Given the description of an element on the screen output the (x, y) to click on. 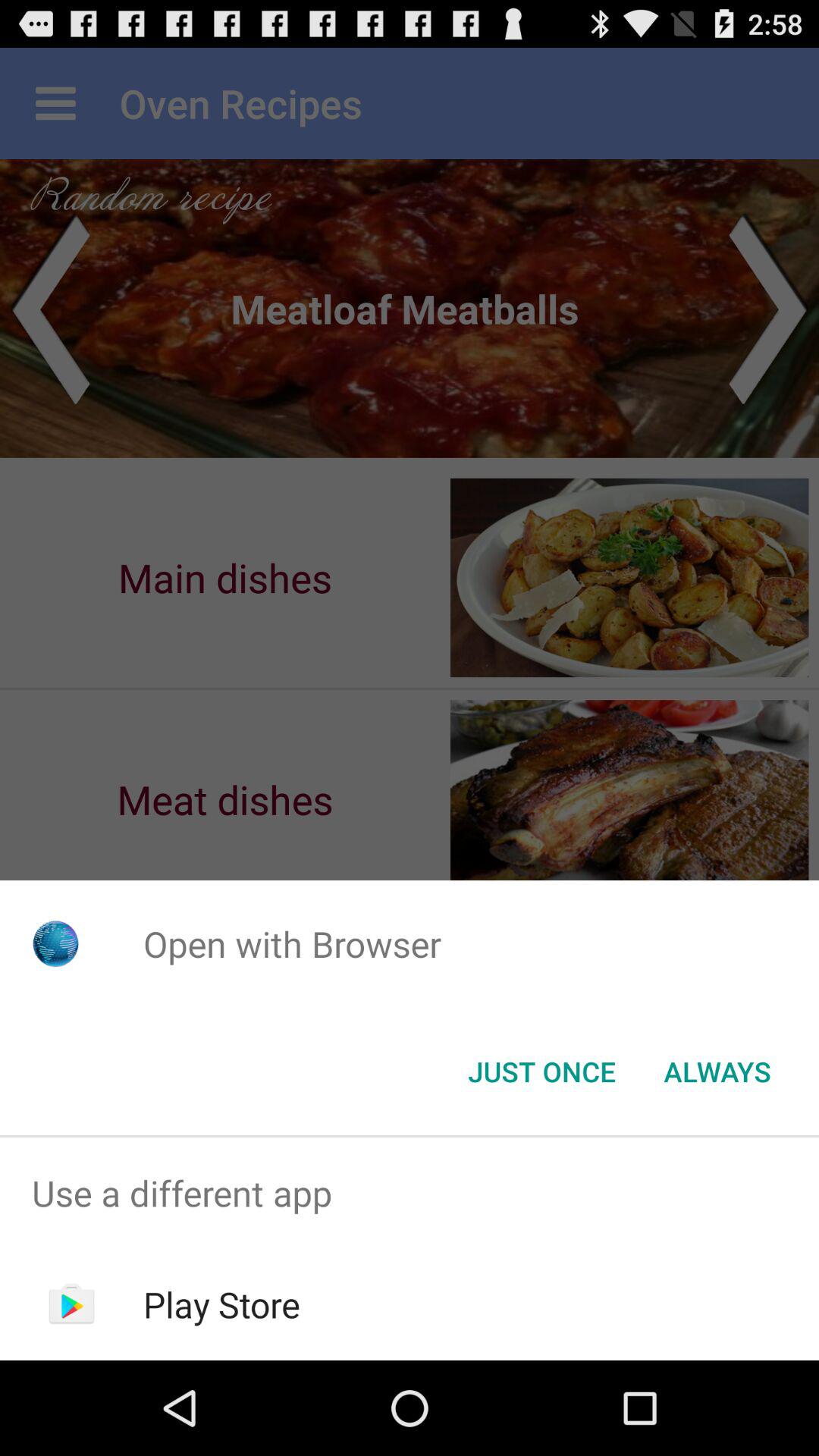
swipe until play store item (221, 1304)
